Given the description of an element on the screen output the (x, y) to click on. 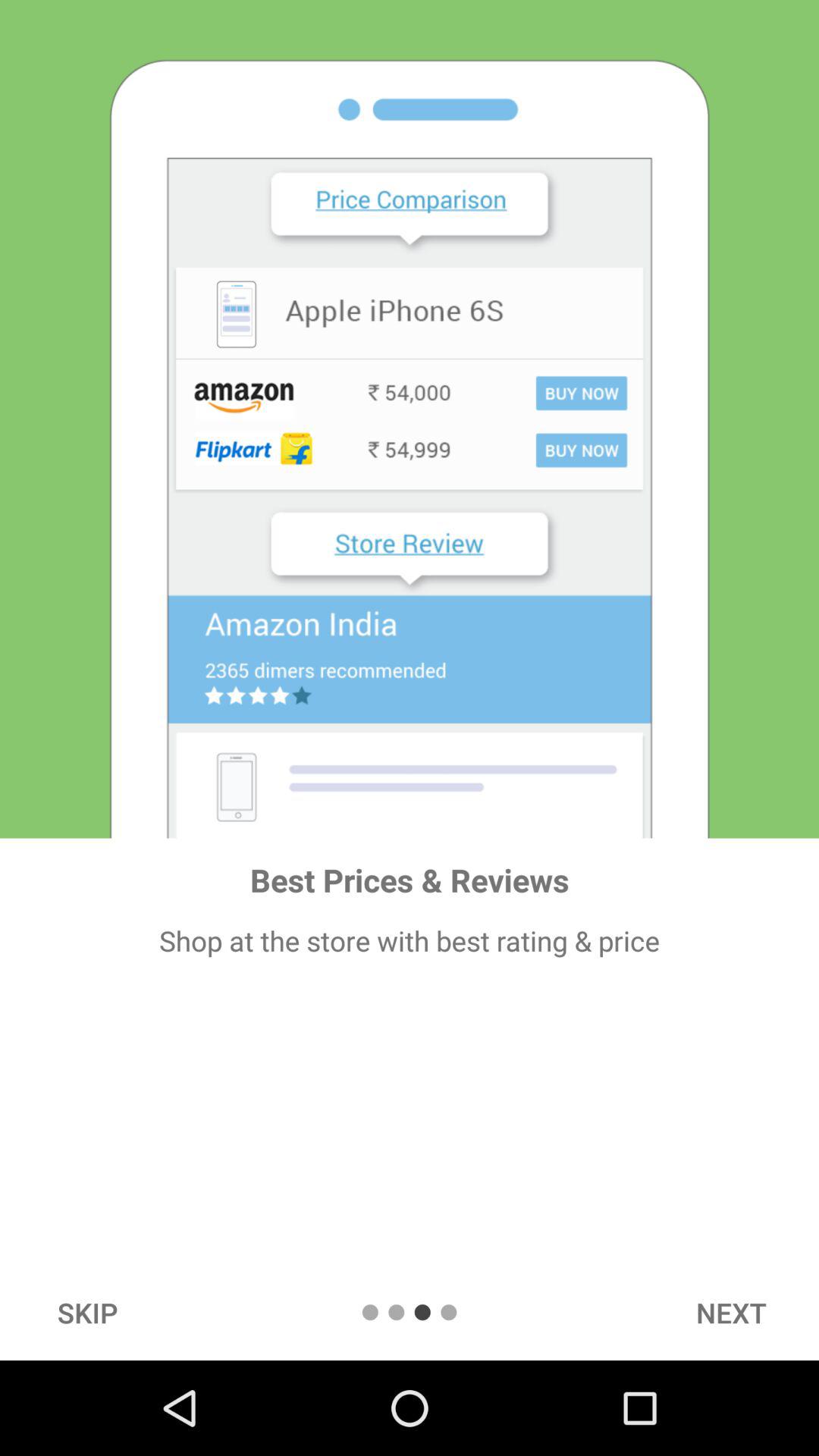
select the item at the bottom right corner (731, 1312)
